Given the description of an element on the screen output the (x, y) to click on. 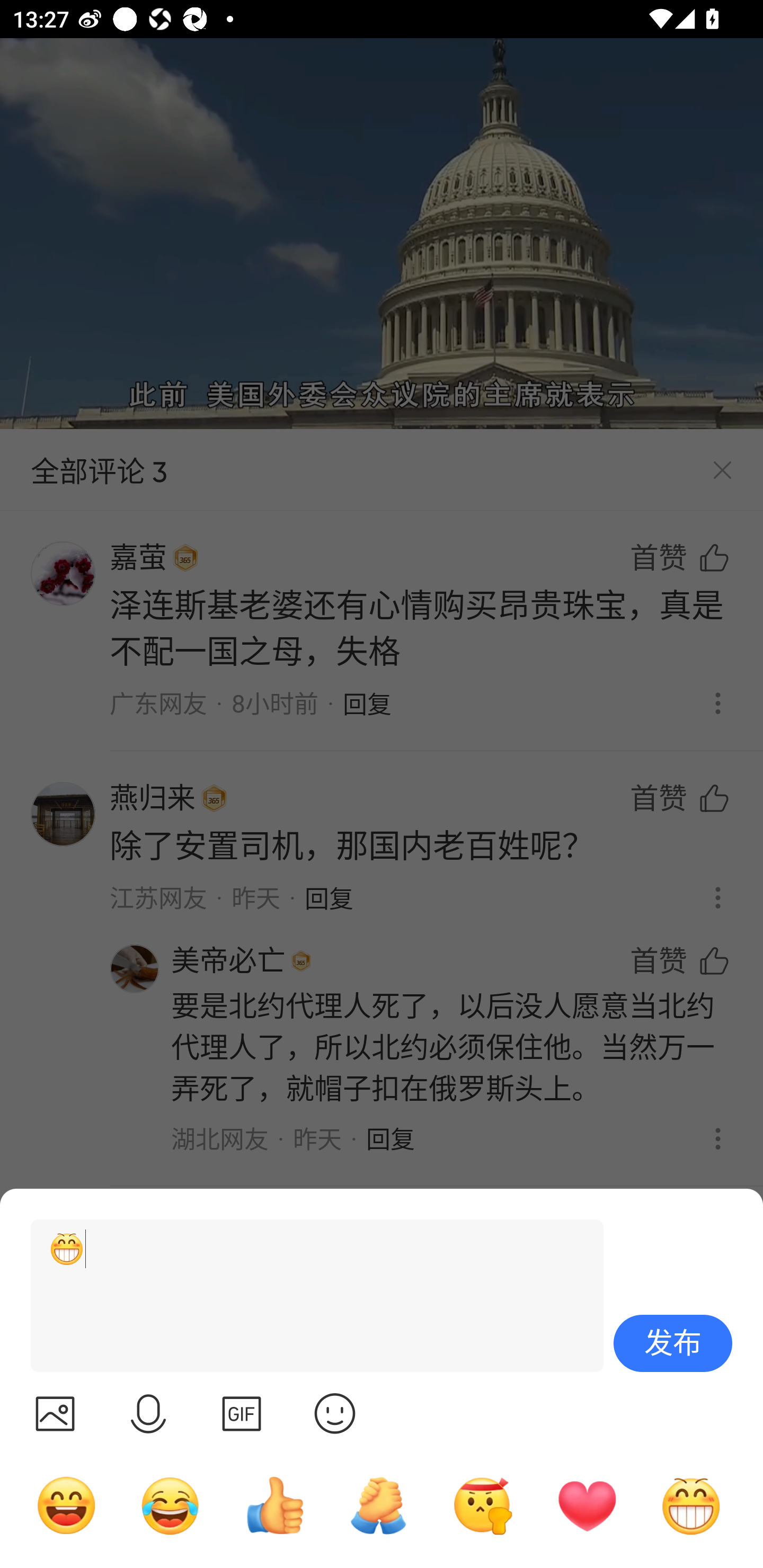
[呲牙] (308, 1295)
发布 (672, 1343)
 (54, 1413)
 (148, 1413)
 (241, 1413)
 (334, 1413)
哈哈 (66, 1505)
哭笑 (170, 1505)
点赞 (274, 1505)
加油 (378, 1505)
奋斗 (482, 1505)
心 (586, 1505)
呲牙 (690, 1505)
